Given the description of an element on the screen output the (x, y) to click on. 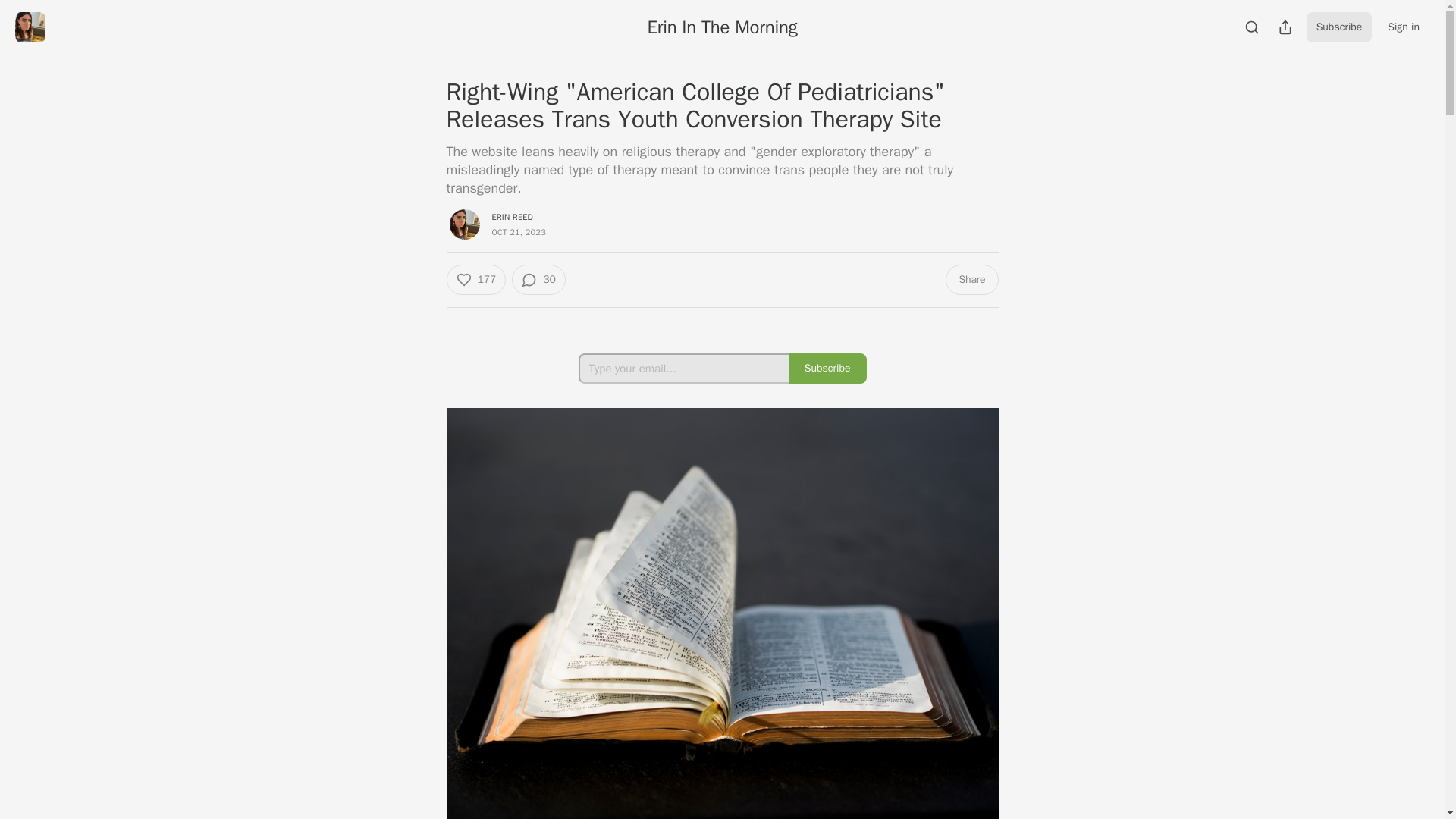
Subscribe (827, 368)
30 (539, 279)
Subscribe (1339, 27)
177 (475, 279)
Sign in (1403, 27)
ERIN REED (512, 216)
Share (970, 279)
Erin In The Morning (722, 26)
